Given the description of an element on the screen output the (x, y) to click on. 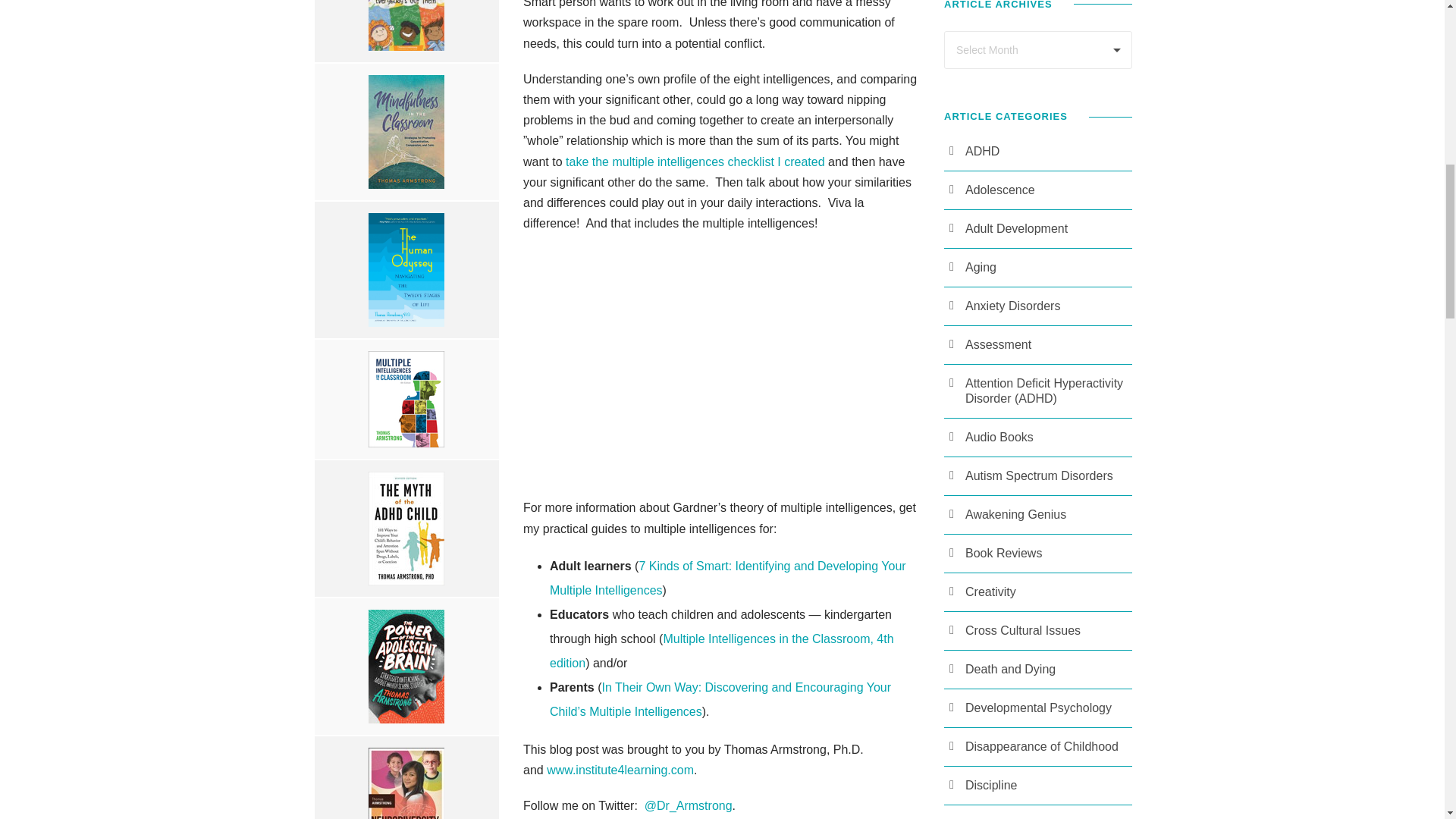
Multiple Intelligences in the Classroom, 4th edition (721, 650)
YouTube video player (723, 361)
take the multiple intelligences checklist I created (695, 161)
www.institute4learning.com (620, 769)
